Given the description of an element on the screen output the (x, y) to click on. 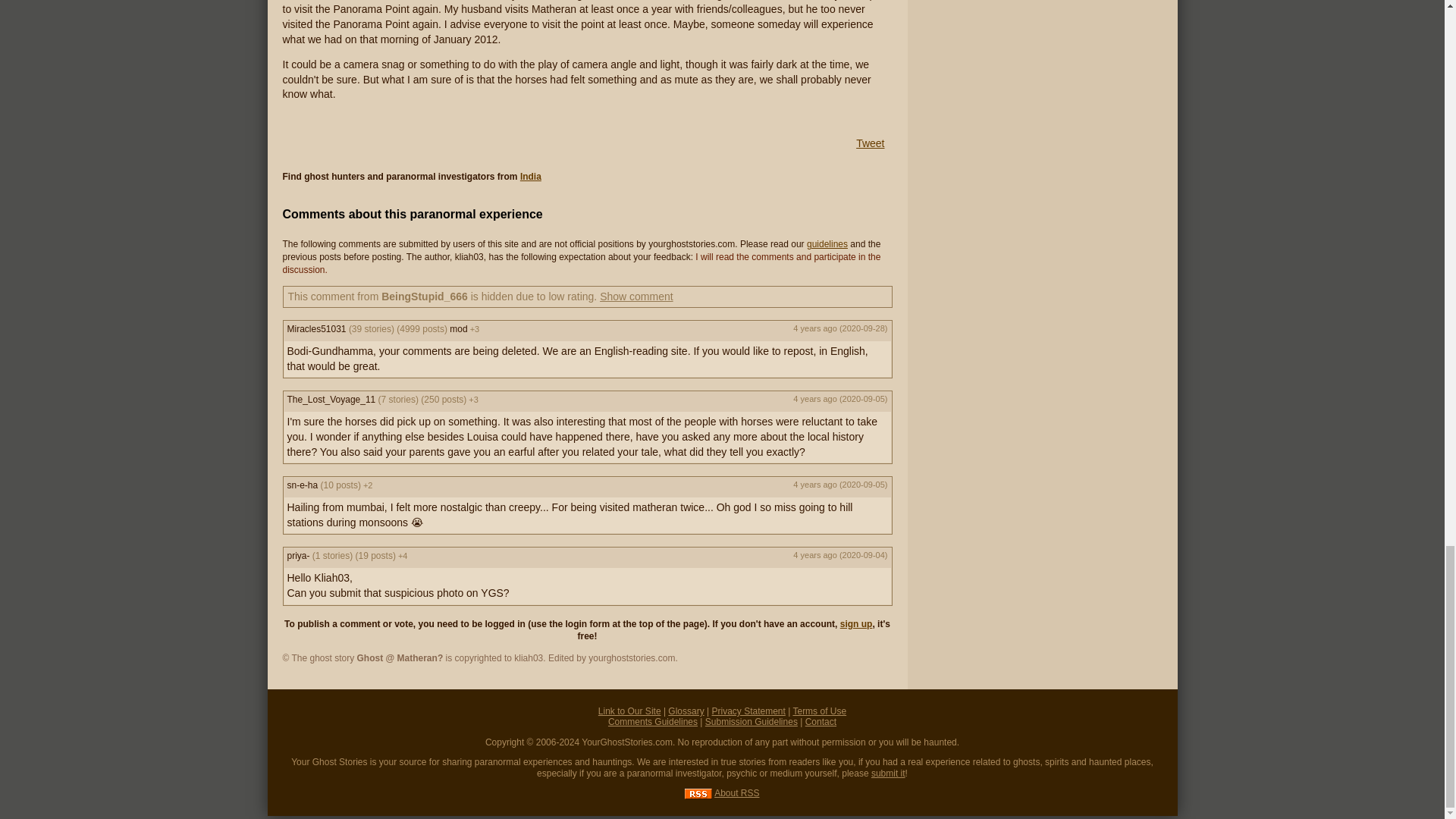
India (530, 176)
Show comment (635, 296)
Tweet (869, 143)
sign up (856, 624)
guidelines (826, 244)
